Given the description of an element on the screen output the (x, y) to click on. 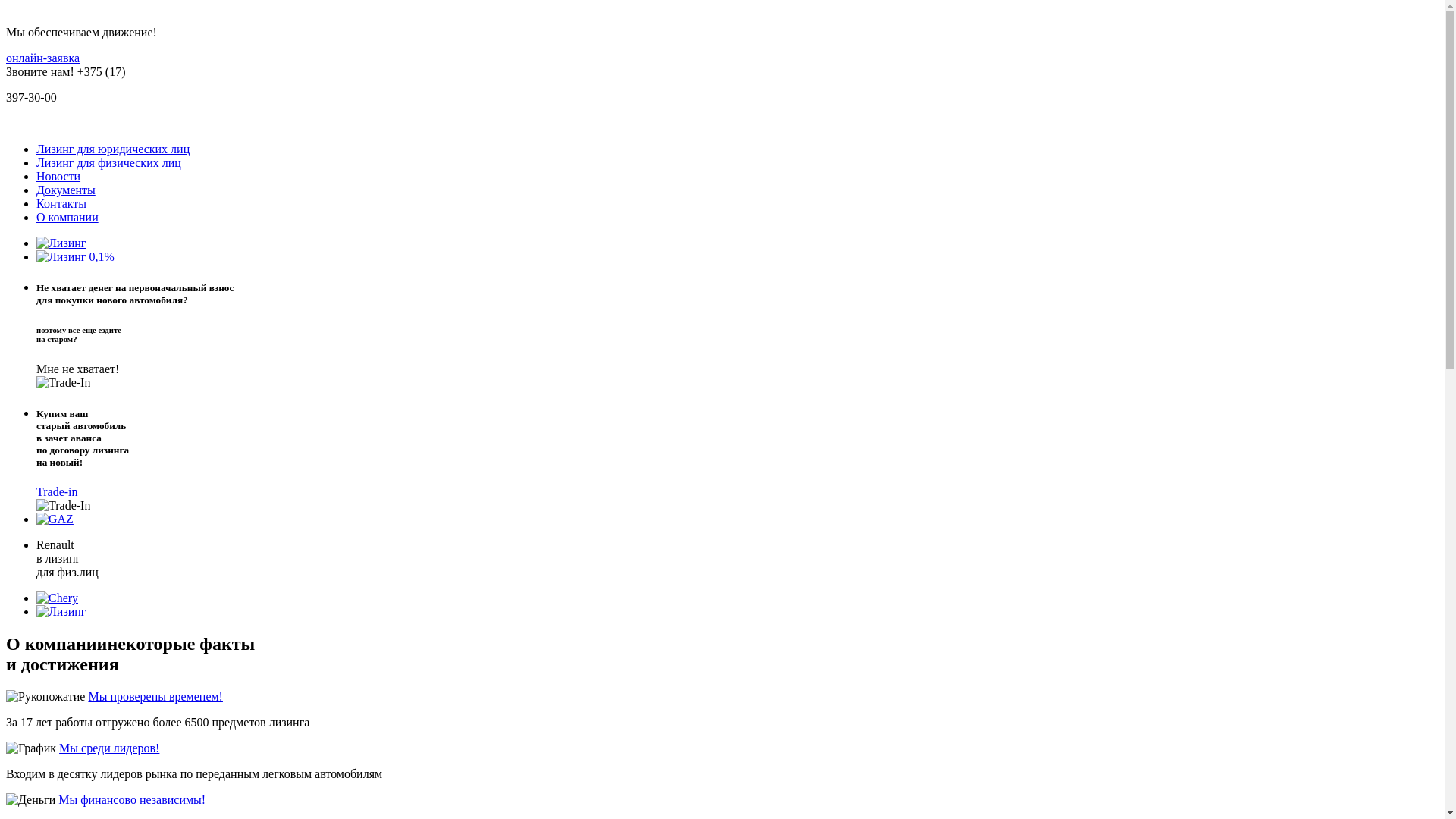
Trade-in Element type: text (57, 491)
